Given the description of an element on the screen output the (x, y) to click on. 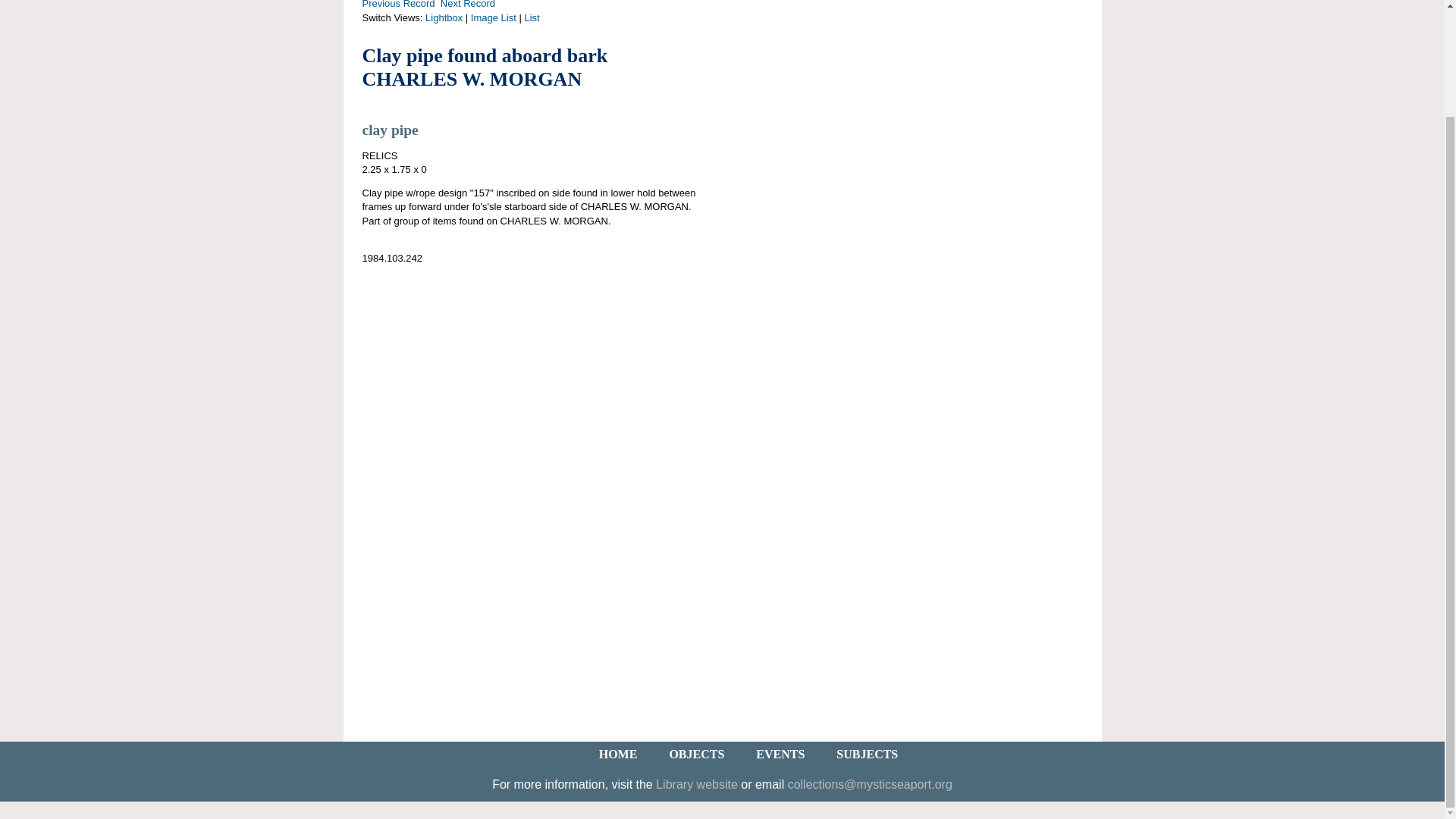
Image List (493, 17)
List (531, 17)
OBJECTS (696, 753)
HOME (618, 753)
EVENTS (780, 753)
Next Record (468, 4)
SUBJECTS (866, 753)
Lightbox (444, 17)
Library website (697, 784)
Previous Record (398, 4)
